Given the description of an element on the screen output the (x, y) to click on. 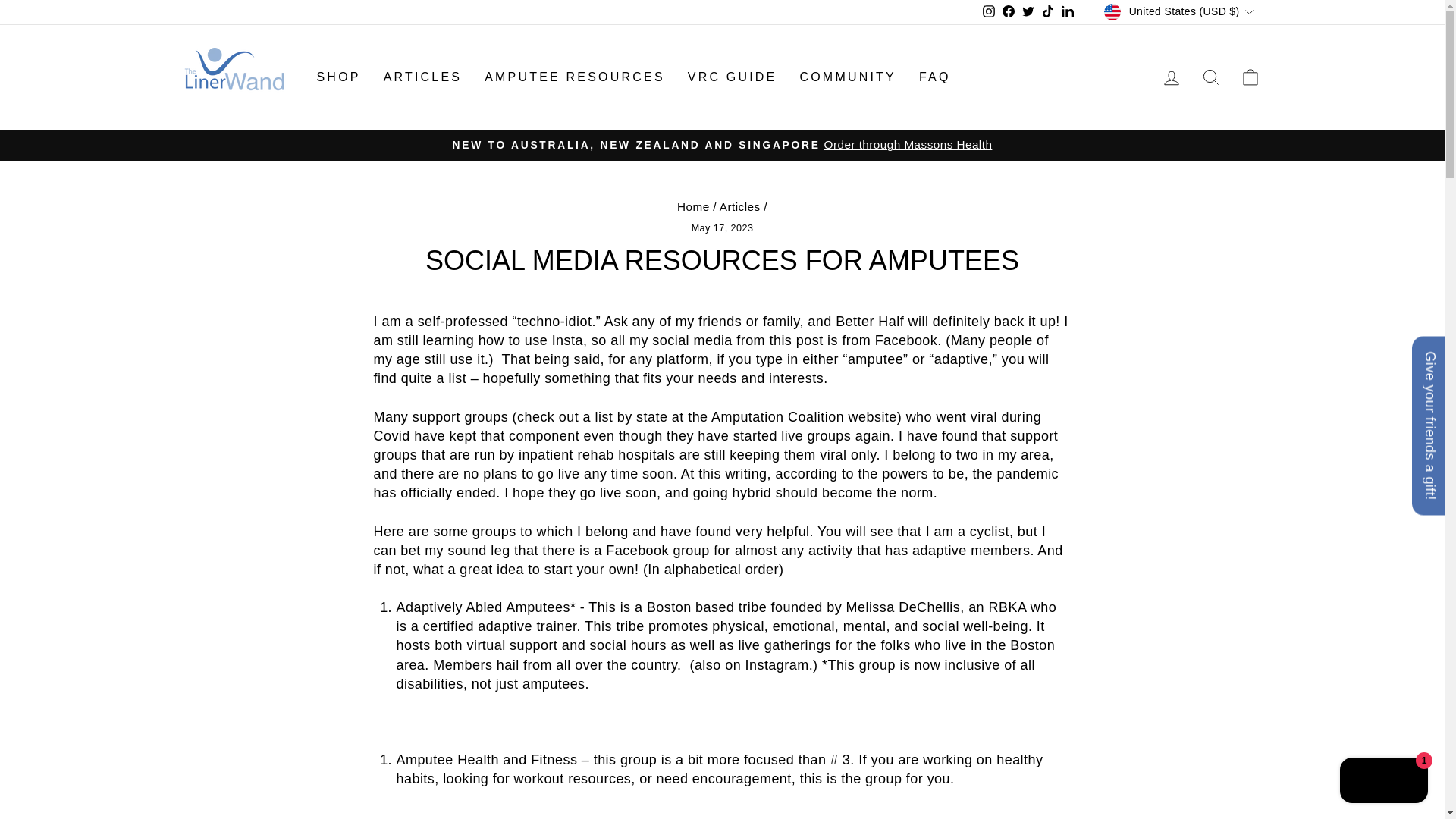
Back to the frontpage (693, 205)
Shopify online store chat (1383, 781)
